Given the description of an element on the screen output the (x, y) to click on. 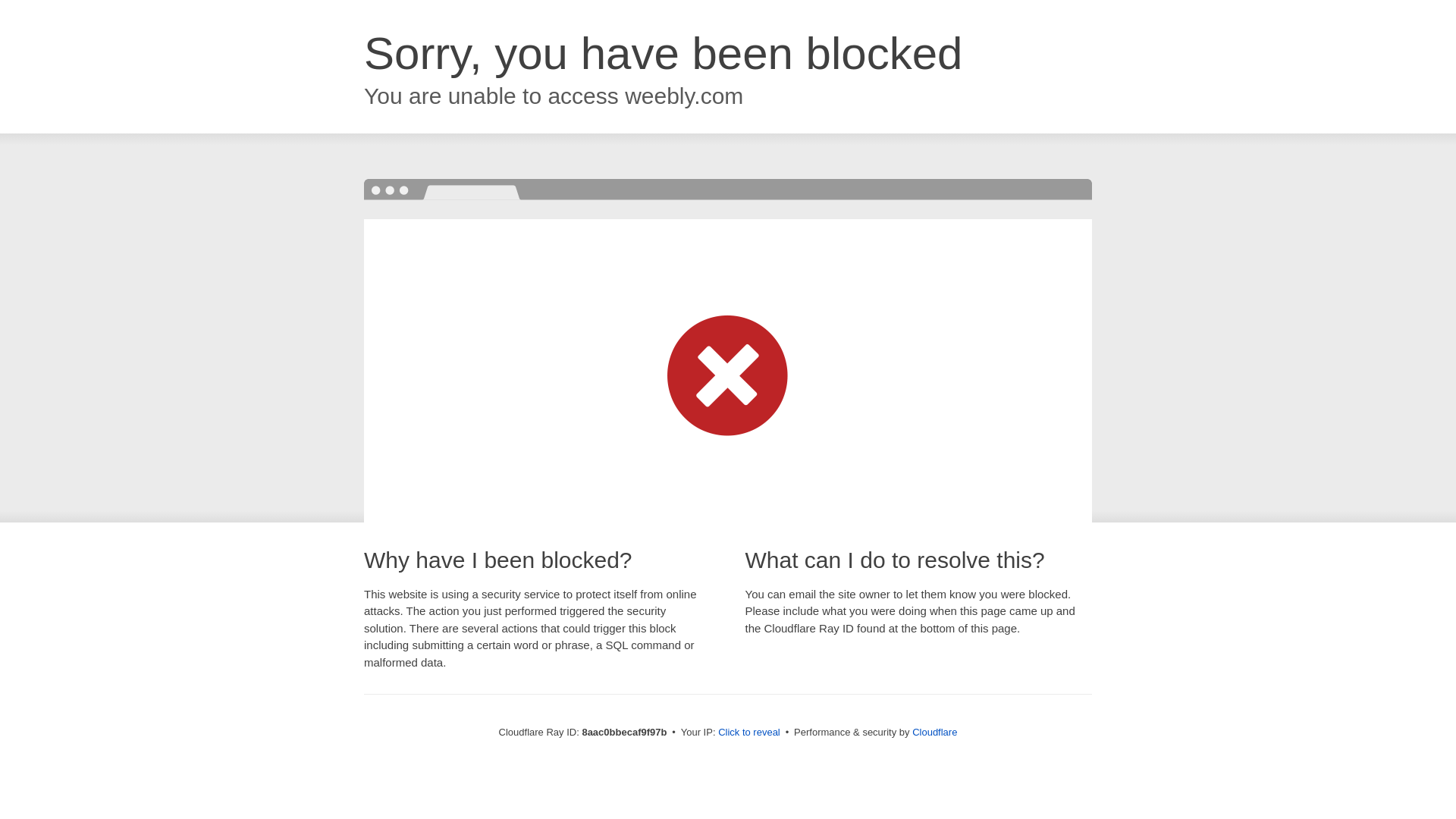
Click to reveal (748, 732)
Cloudflare (934, 731)
